Given the description of an element on the screen output the (x, y) to click on. 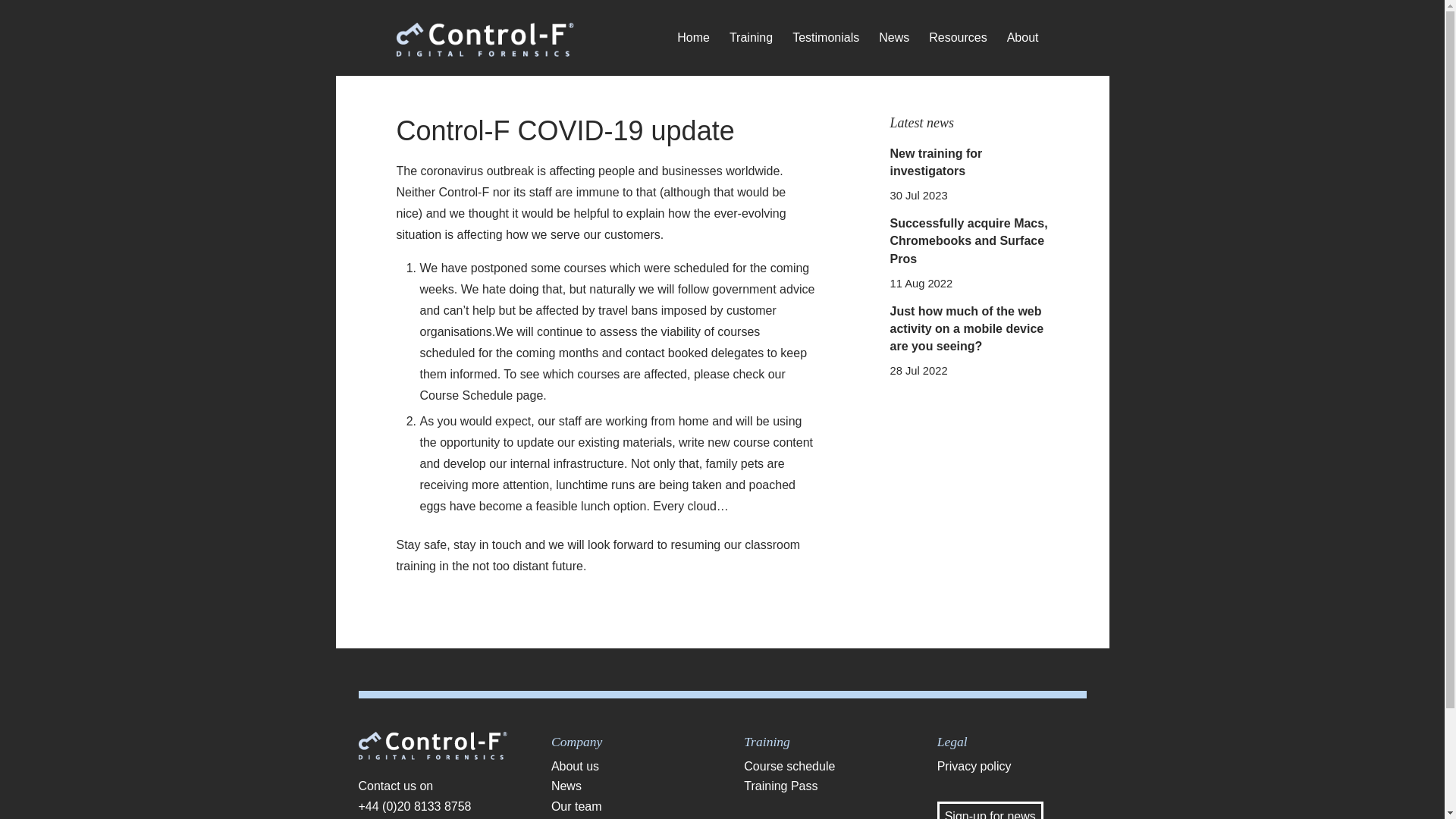
About us (625, 766)
Training Pass (818, 786)
Locations and contact (625, 817)
Resources (956, 38)
New training for investigators (935, 162)
News (625, 786)
Privacy policy (1011, 766)
Sign-up for news (990, 810)
Successfully acquire Macs, Chromebooks and Surface Pros (968, 240)
Course Schedule (466, 395)
Training (751, 38)
Home (692, 38)
